Given the description of an element on the screen output the (x, y) to click on. 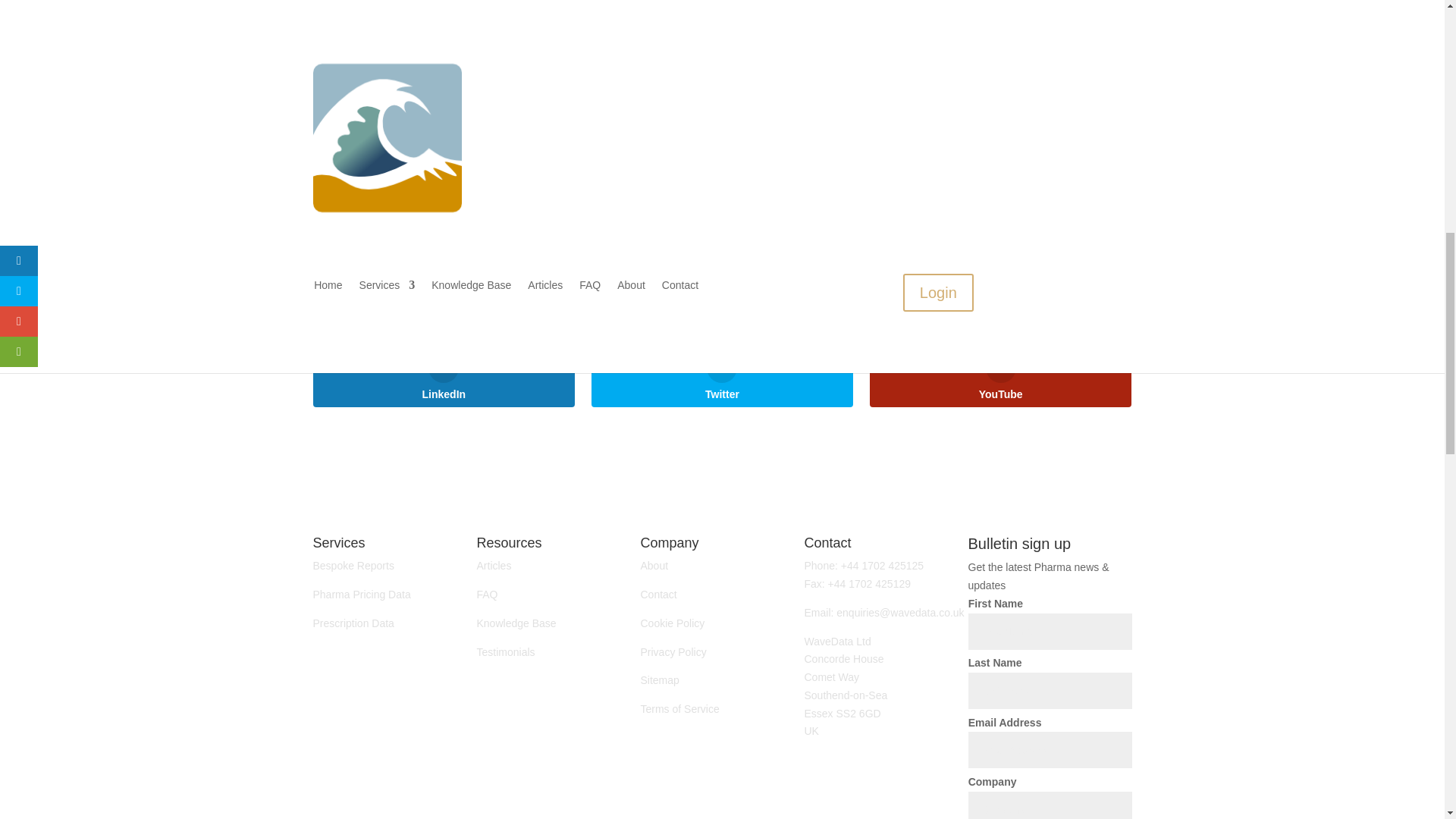
Follow on Twitter (846, 752)
Privacy Policy (673, 652)
Follow on Youtube (876, 752)
Bespoke Reports (353, 565)
Testimonials (505, 652)
Follow on LinkedIn (815, 752)
About (654, 565)
Contact (658, 594)
Twitter (722, 375)
Cookie Policy (672, 623)
